Given the description of an element on the screen output the (x, y) to click on. 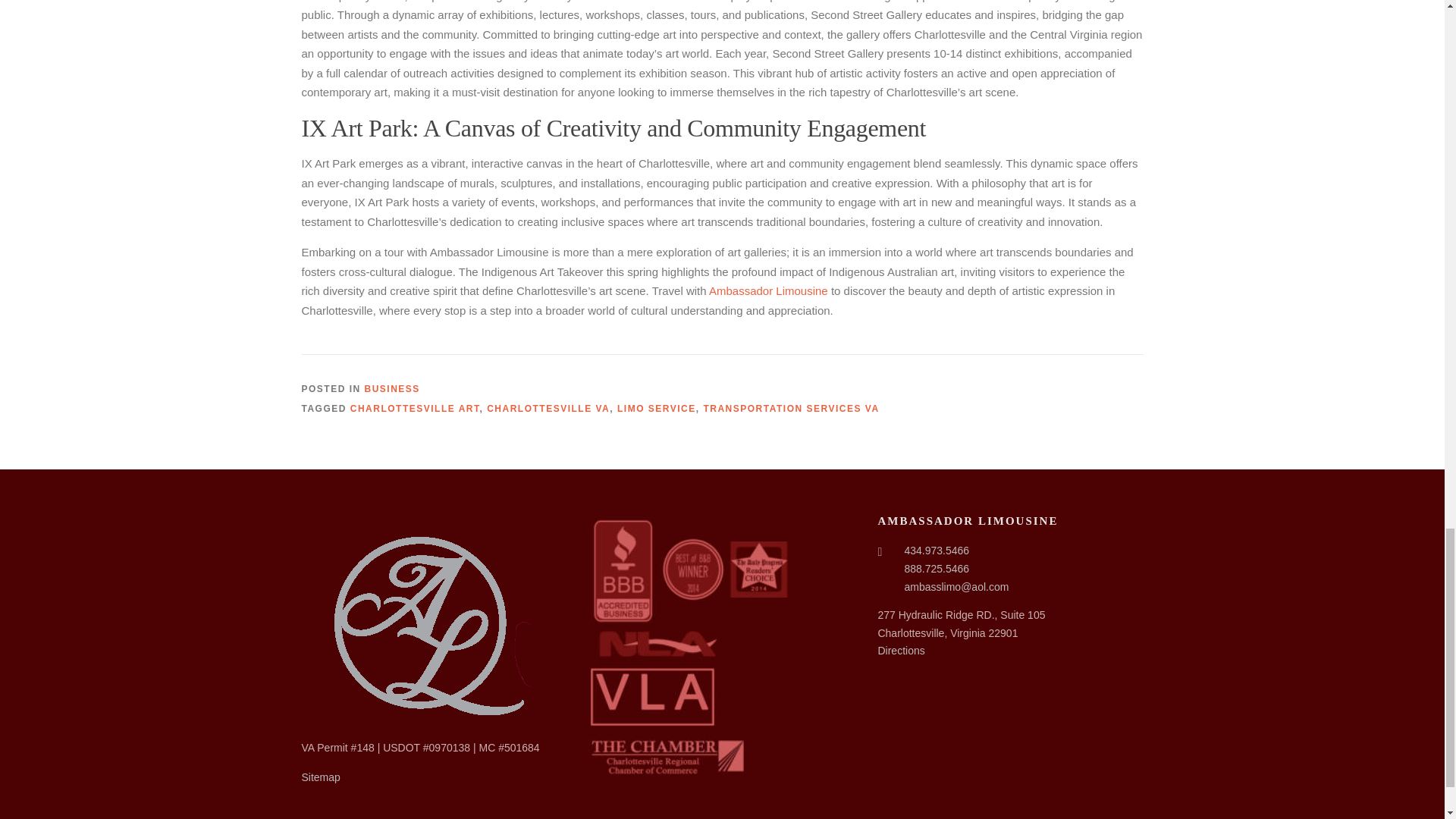
Ambassador Limousine (768, 290)
CHARLOTTESVILLE ART (415, 408)
CHARLOTTESVILLE VA (548, 408)
LIMO SERVICE (656, 408)
TRANSPORTATION SERVICES VA (791, 408)
Sitemap (320, 776)
BUSINESS (392, 388)
434.973.5466 (936, 550)
888.725.5466 (936, 568)
Directions (900, 650)
